Given the description of an element on the screen output the (x, y) to click on. 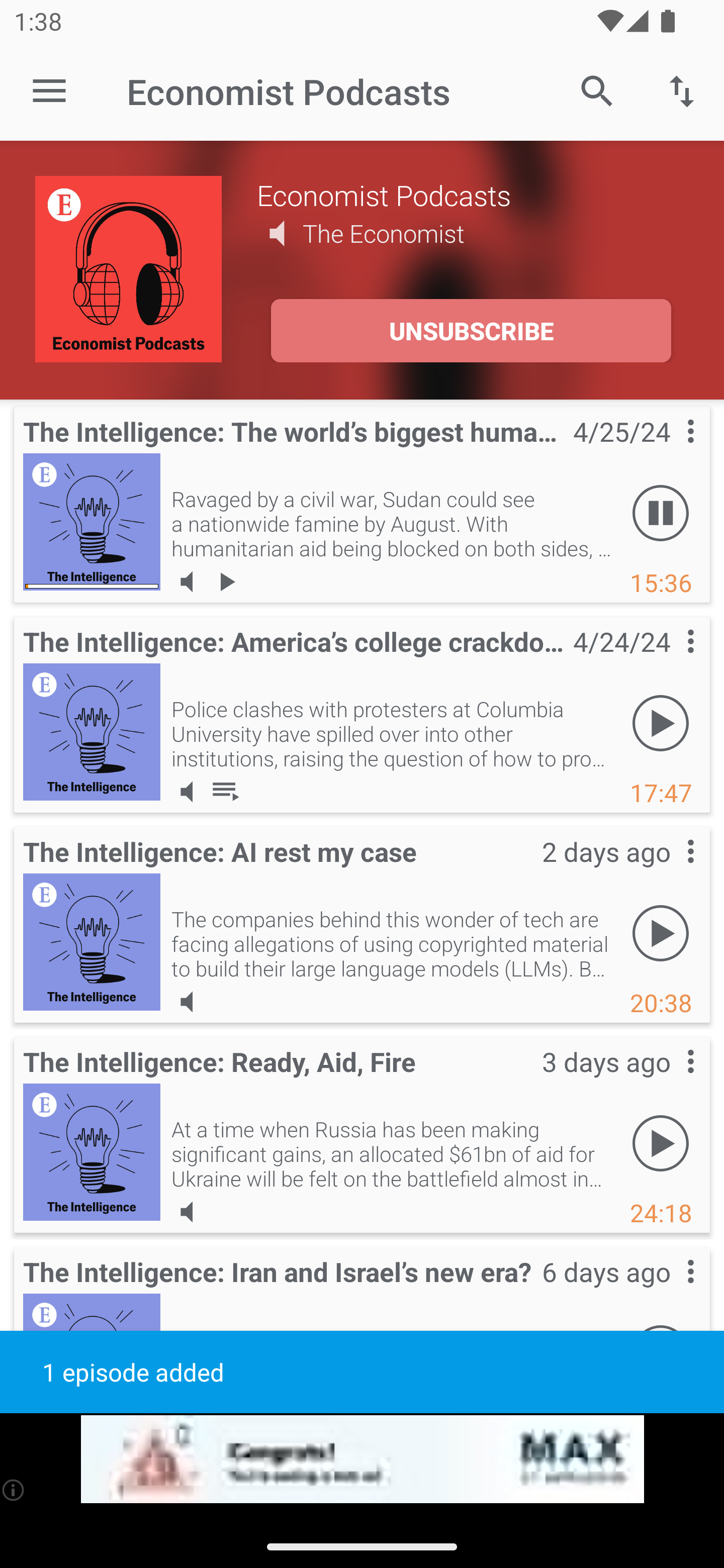
Open navigation sidebar (49, 91)
Search (597, 90)
Sort (681, 90)
UNSUBSCRIBE (470, 330)
Contextual menu (668, 451)
Pause (660, 513)
Contextual menu (668, 661)
Play (660, 723)
Contextual menu (668, 870)
Play (660, 933)
Contextual menu (668, 1080)
Play (660, 1143)
Contextual menu (668, 1290)
app-monetization (362, 1459)
(i) (14, 1489)
